Given the description of an element on the screen output the (x, y) to click on. 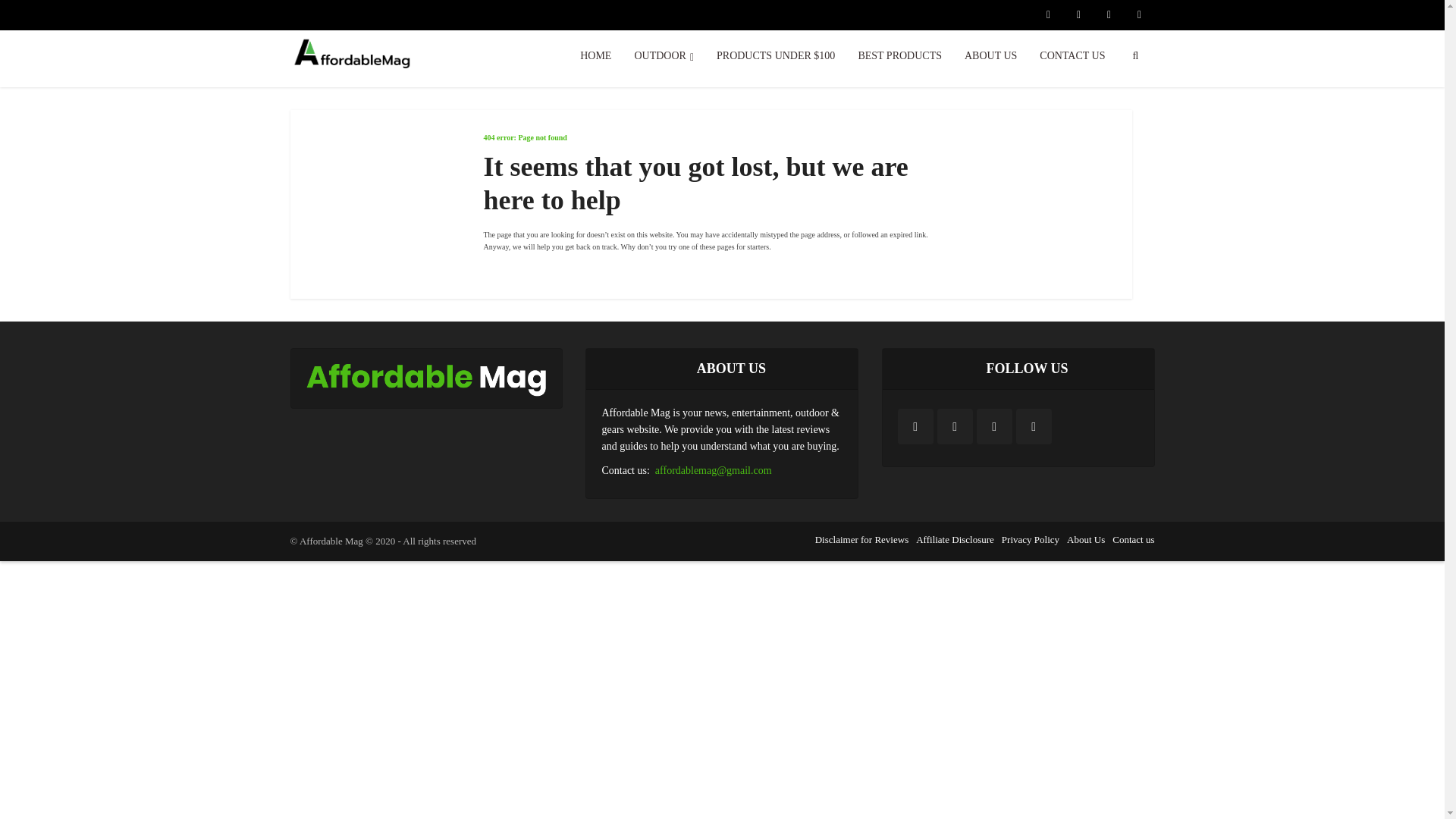
Instagram (954, 426)
BEST PRODUCTS (899, 55)
facebook (915, 426)
twitter (993, 426)
CONTACT US (1071, 55)
instagram (954, 426)
ABOUT US (990, 55)
HOME (596, 55)
OUTDOOR (663, 55)
YouTube (1033, 426)
Facebook (915, 426)
